Given the description of an element on the screen output the (x, y) to click on. 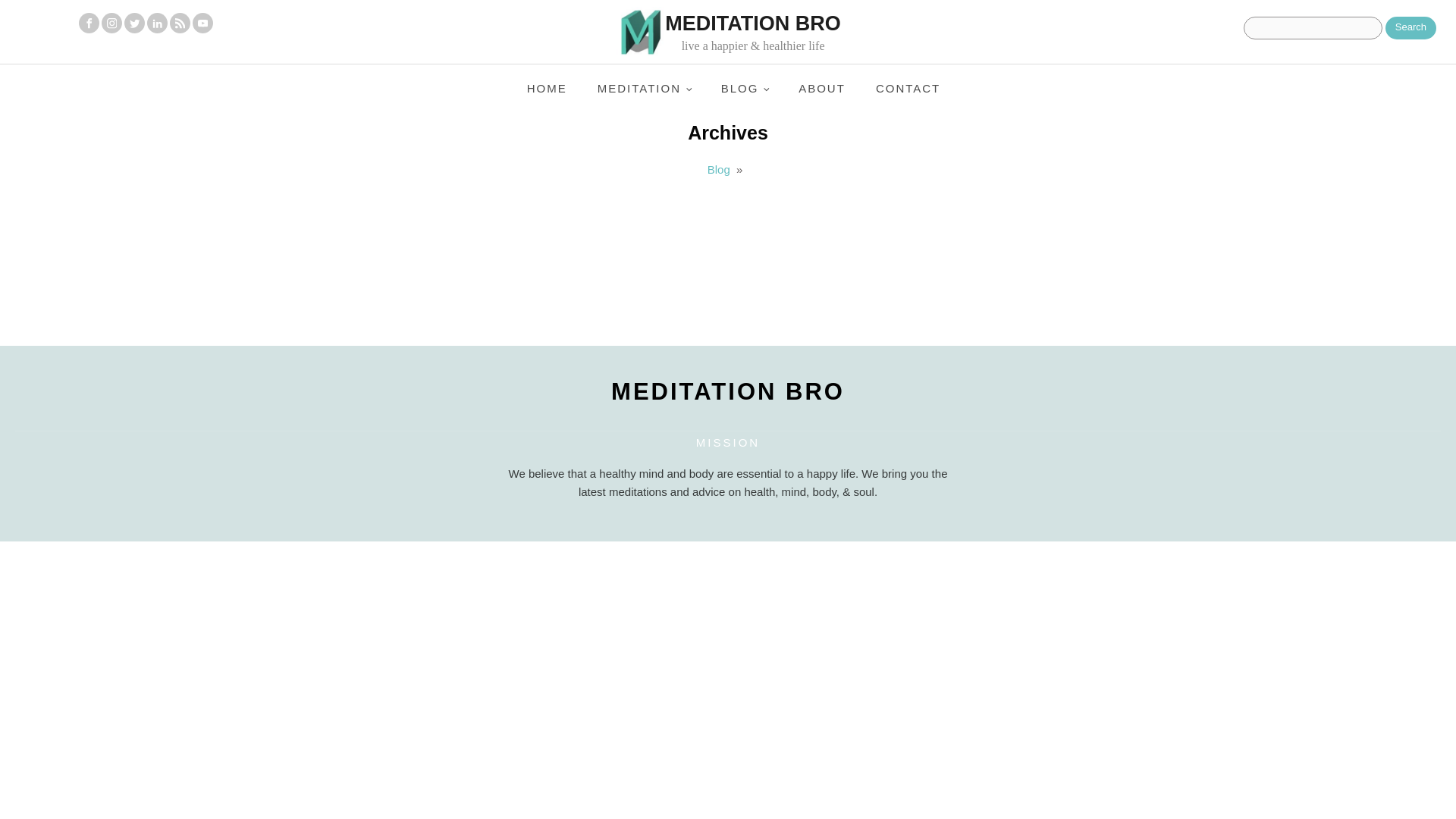
MEDITATION BRO (727, 391)
ABOUT (821, 88)
BLOG (744, 88)
CONTACT (907, 88)
Blog (718, 169)
Search (1410, 27)
Search (1410, 27)
Breadcrumb link to Blog (718, 169)
HOME (547, 88)
MEDITATION (644, 88)
